Given the description of an element on the screen output the (x, y) to click on. 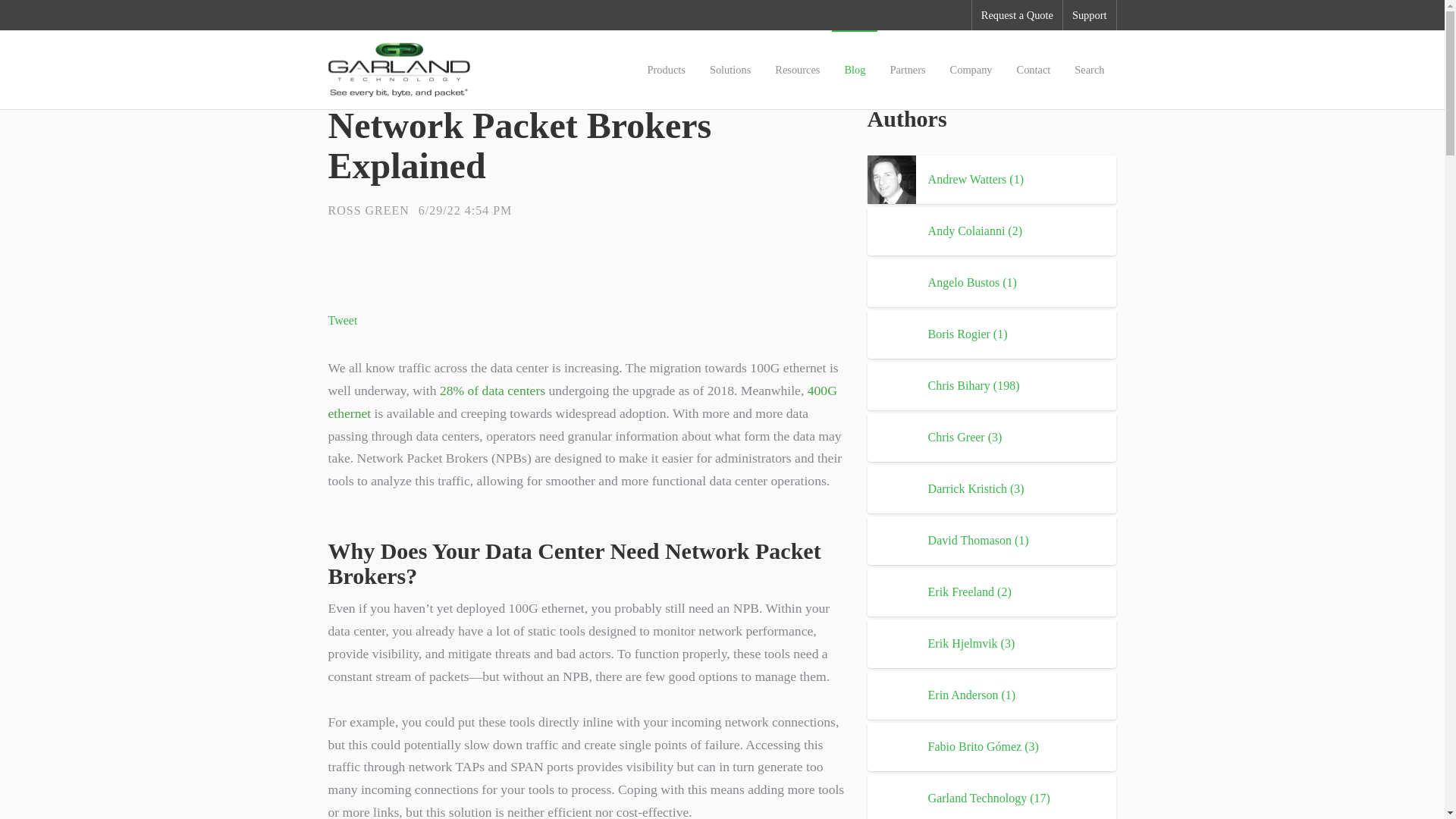
Request a Quote (1017, 15)
Support (1089, 15)
